Given the description of an element on the screen output the (x, y) to click on. 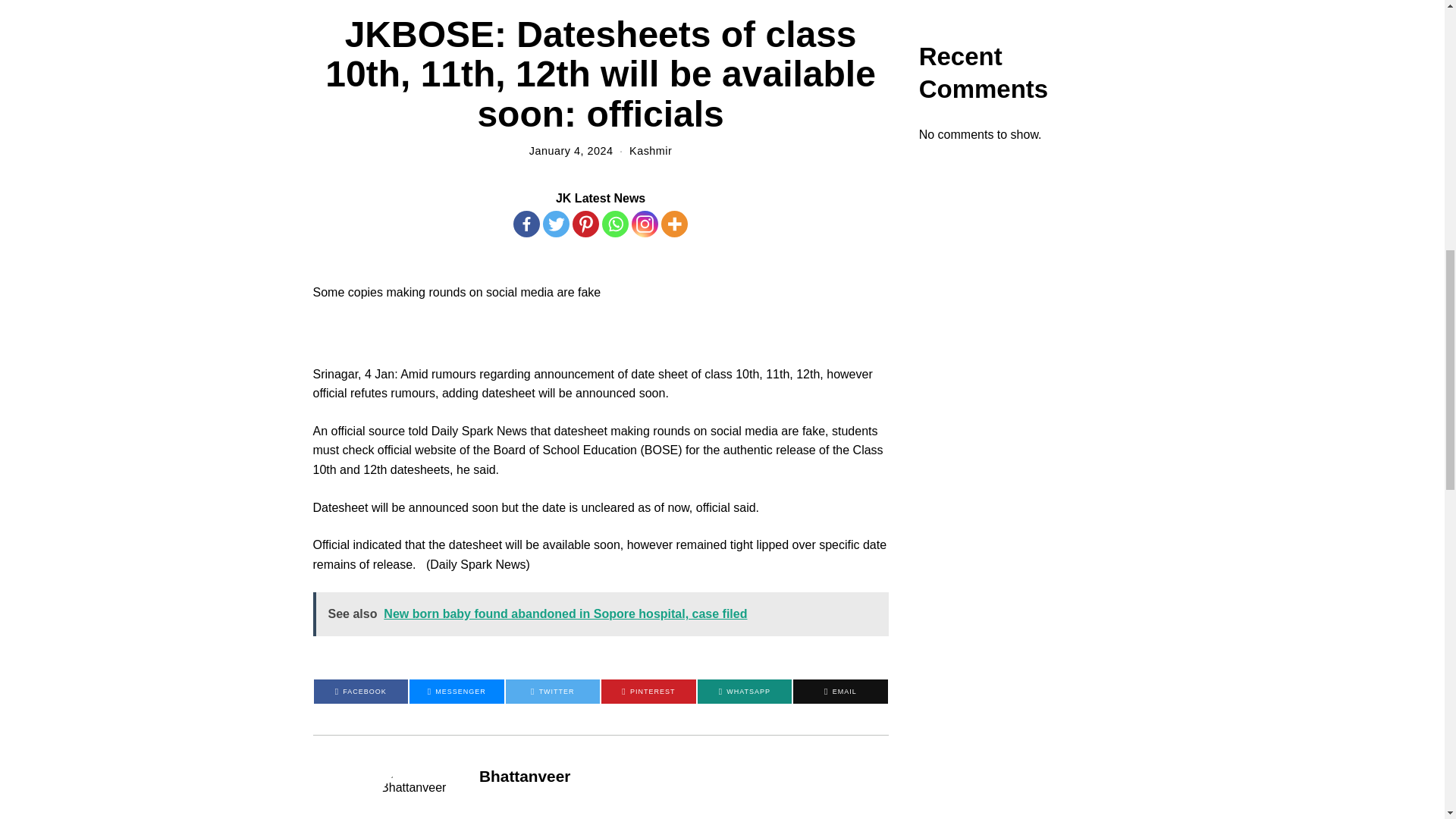
Whatsapp (615, 223)
Twitter (556, 223)
MESSENGER (456, 691)
Facebook (526, 223)
Pinterest (585, 223)
More (674, 223)
PINTEREST (648, 691)
TWITTER (552, 691)
FACEBOOK (361, 691)
